Given the description of an element on the screen output the (x, y) to click on. 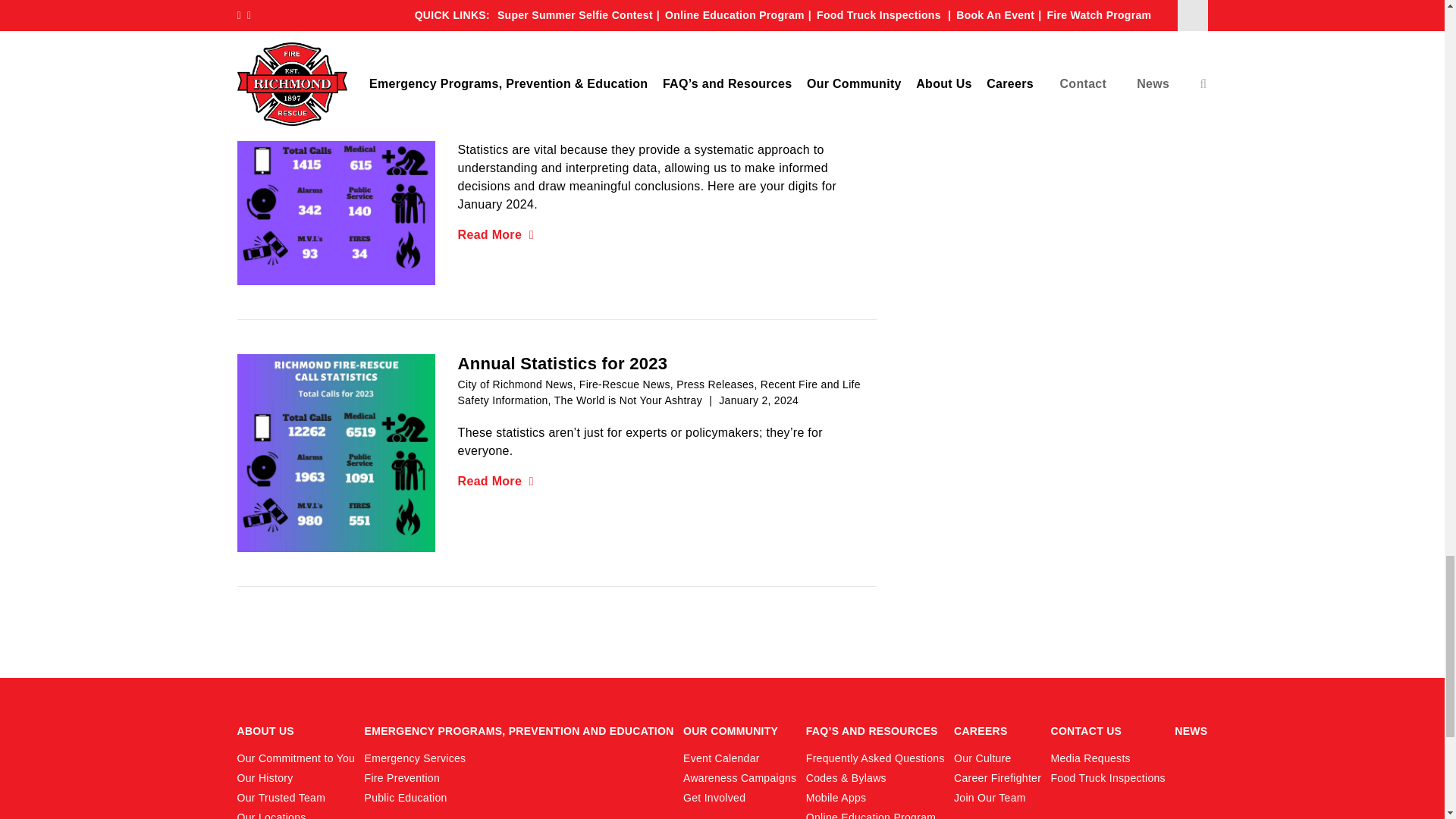
Call Statistics For January 2024 (334, 185)
Call Statistics For January 2024 (334, 185)
Call Stats Jan. 1, 2024 through March, 1, 2024 (334, 9)
